Given the description of an element on the screen output the (x, y) to click on. 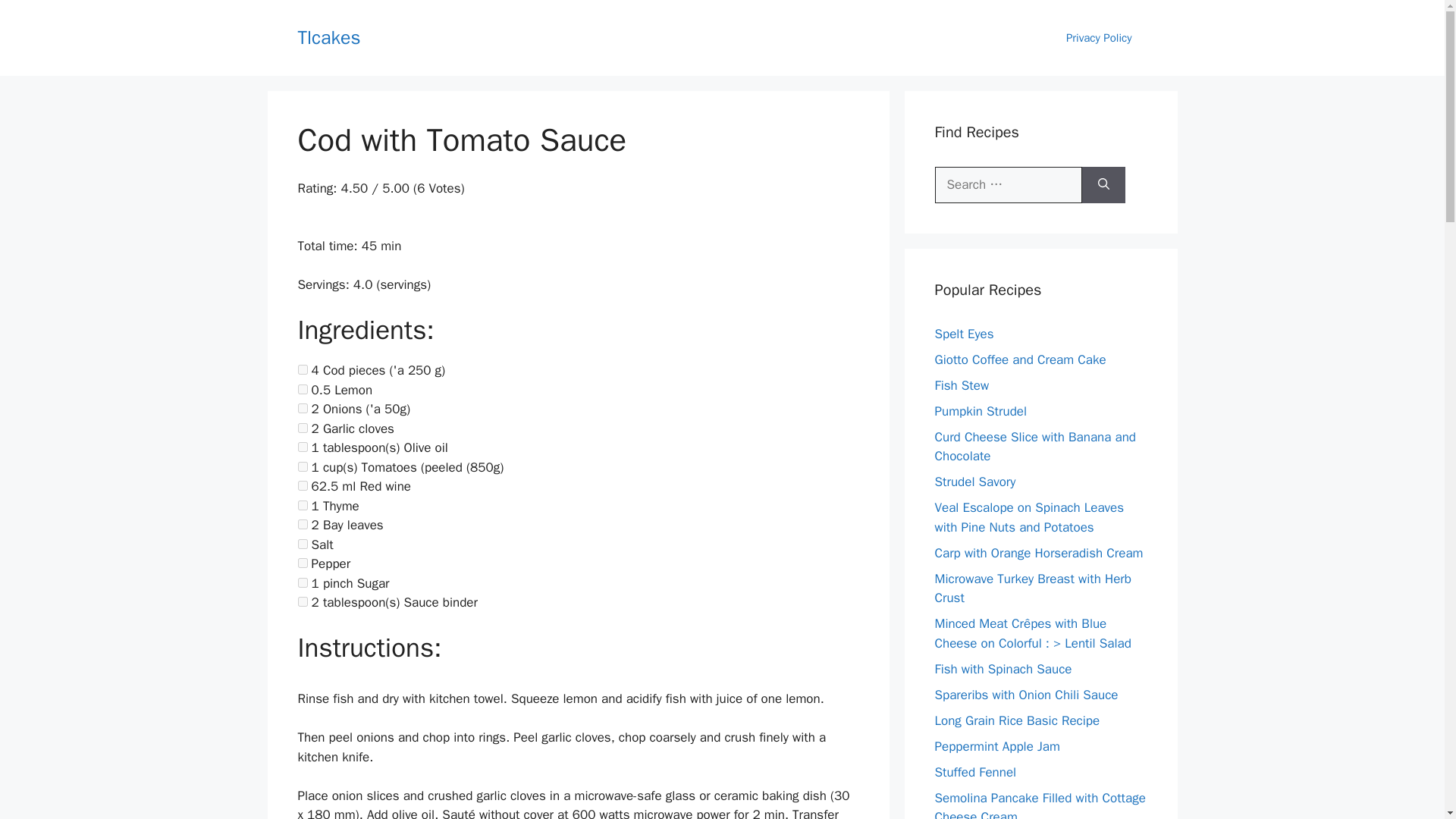
2  Bay leaves (302, 524)
Fish with Spinach Sauce (1002, 668)
Long Grain Rice Basic Recipe (1016, 720)
Curd Cheese Slice with Banana and Chocolate (1034, 447)
Search for: (1007, 185)
Spareribs with Onion Chili Sauce (1026, 694)
Peppermint Apple Jam (996, 746)
1 pinch Sugar (302, 583)
Privacy Policy (1099, 37)
Stuffed Fennel (975, 772)
